Given the description of an element on the screen output the (x, y) to click on. 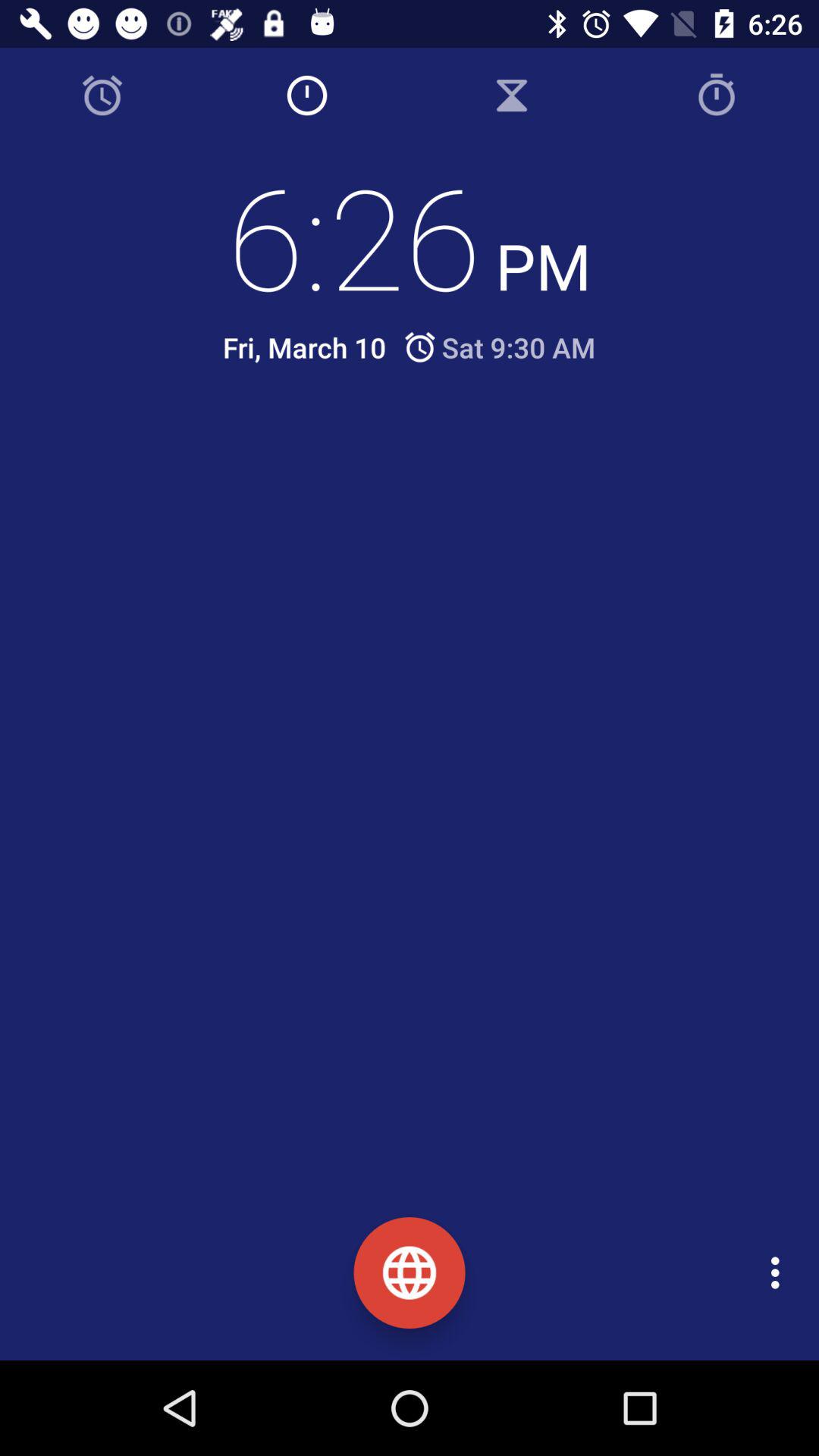
launch icon above fri, march 10 (409, 235)
